Given the description of an element on the screen output the (x, y) to click on. 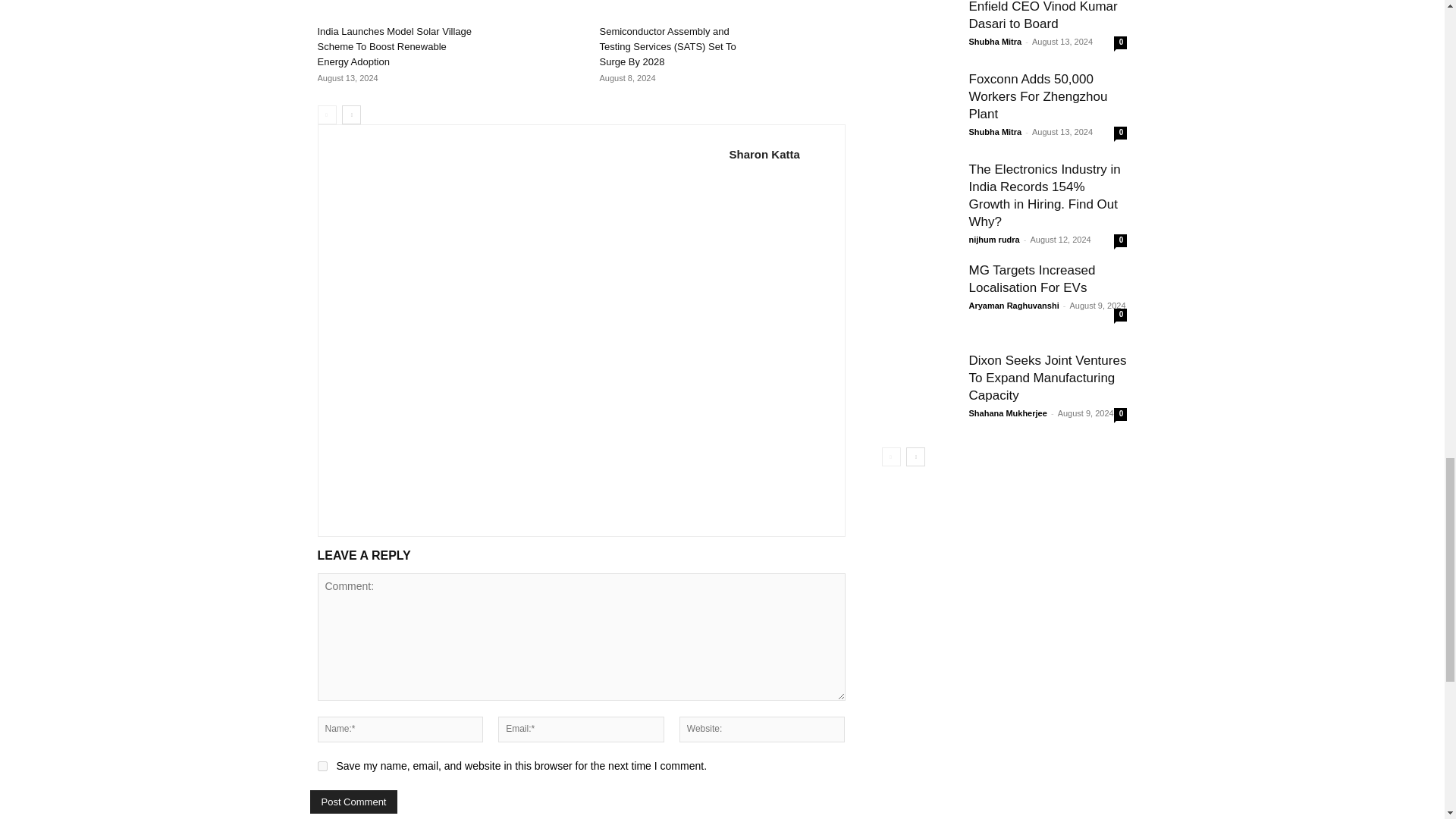
Post Comment (352, 802)
Kerala Aims For EV Investments To Create Auto Tech Hub (524, 2)
yes (321, 766)
